Given the description of an element on the screen output the (x, y) to click on. 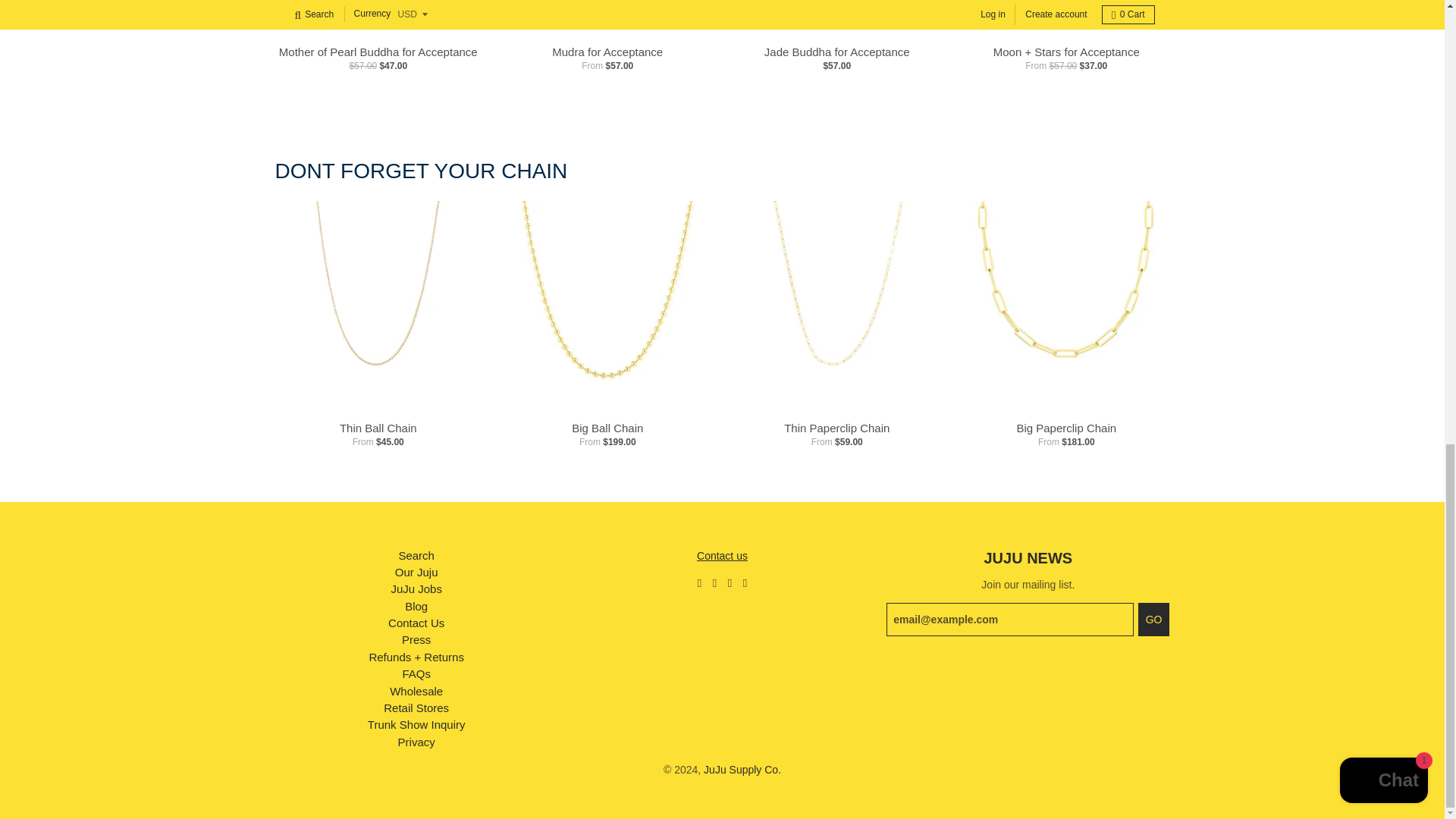
JuJu Supply Co. on Instagram (730, 580)
JuJu Supply Co. on Pinterest (744, 580)
JuJu Supply Co. on Facebook (714, 580)
JuJu Supply Co. on Twitter (699, 580)
